Given the description of an element on the screen output the (x, y) to click on. 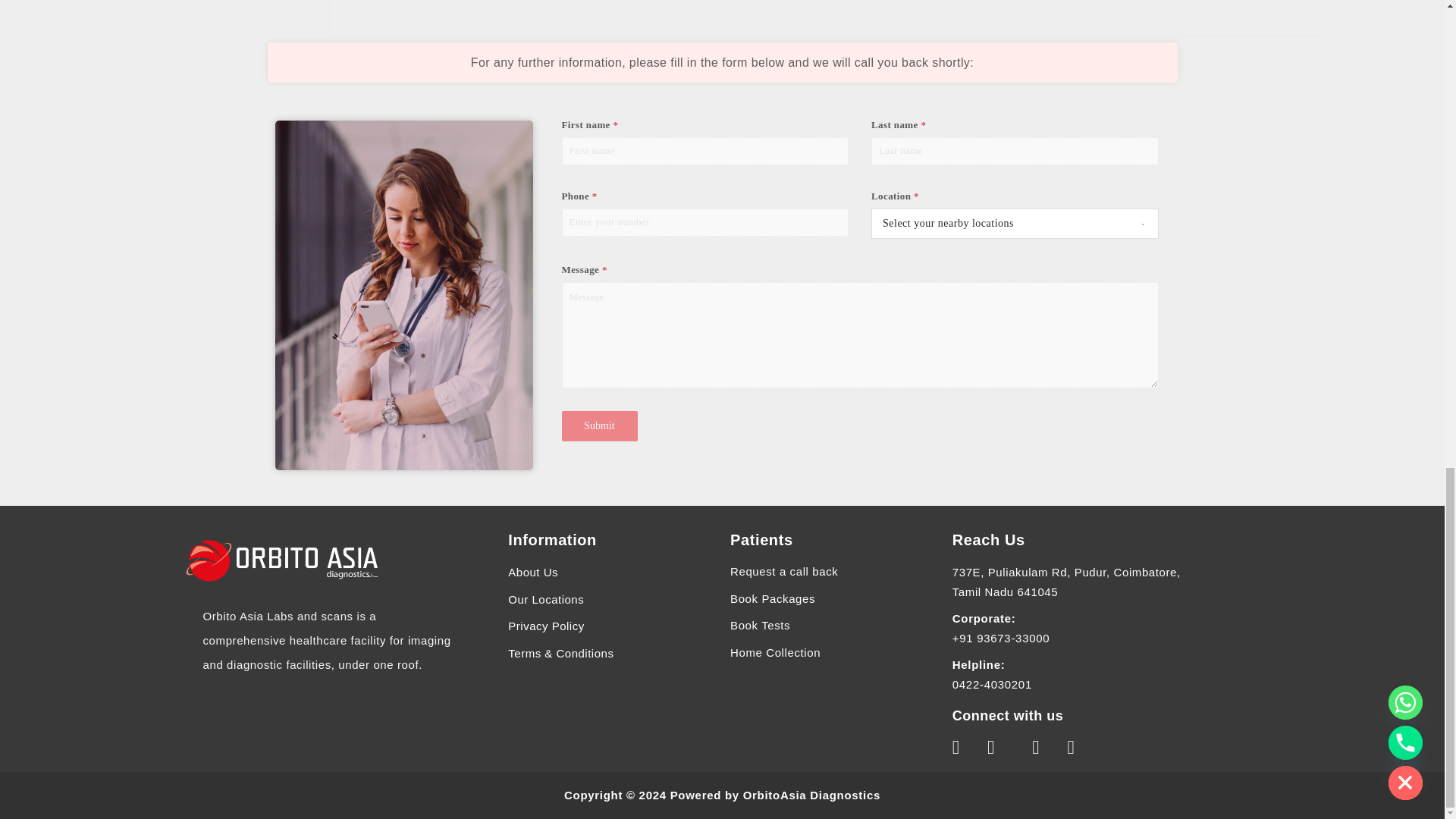
Select your nearby locations (1000, 223)
